Given the description of an element on the screen output the (x, y) to click on. 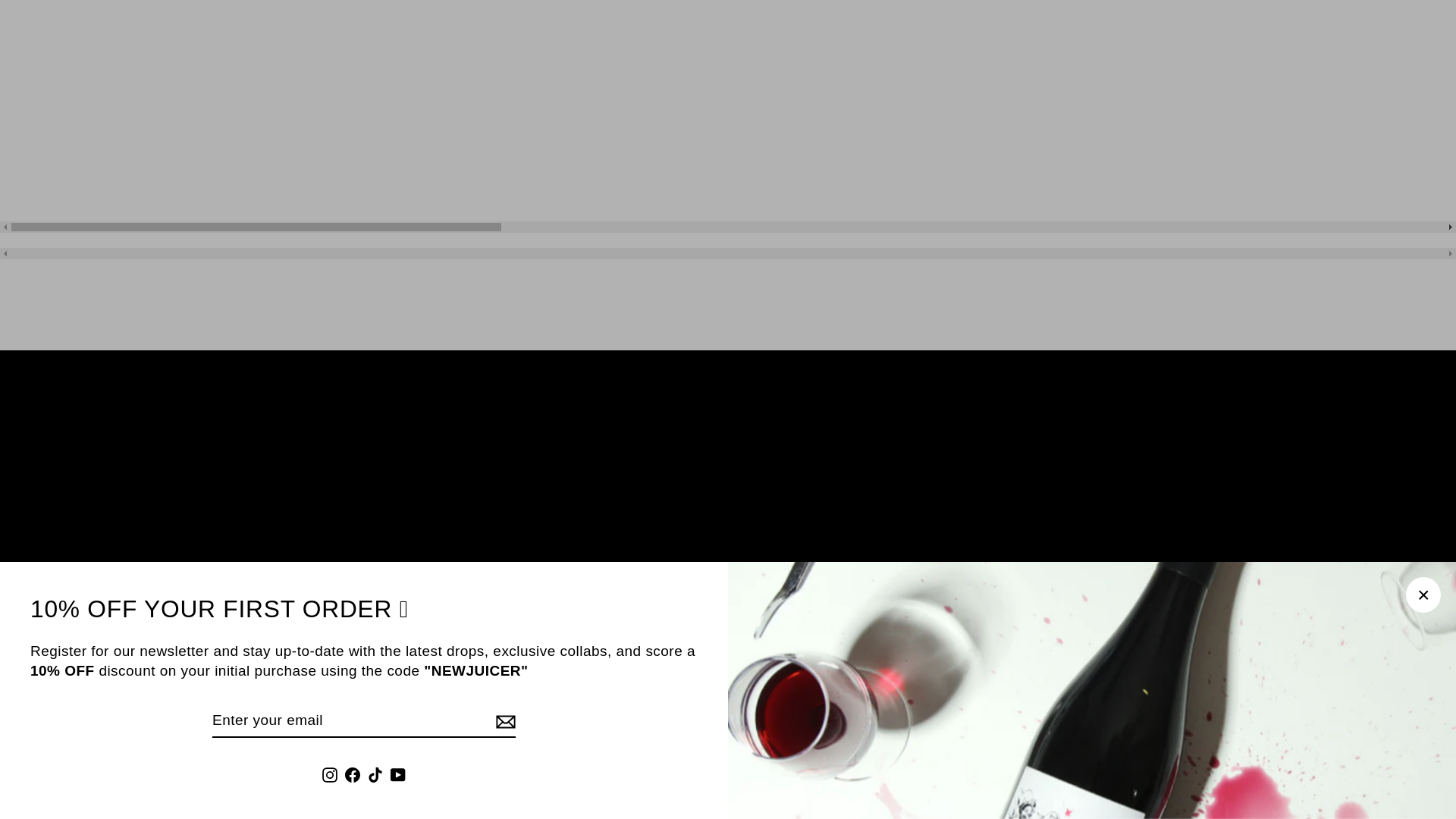
Juiced Wines on Instagram (652, 691)
Apple Pay (605, 778)
Discover (675, 778)
American Express (570, 778)
instagram (652, 691)
Diners Club (640, 778)
